Given the description of an element on the screen output the (x, y) to click on. 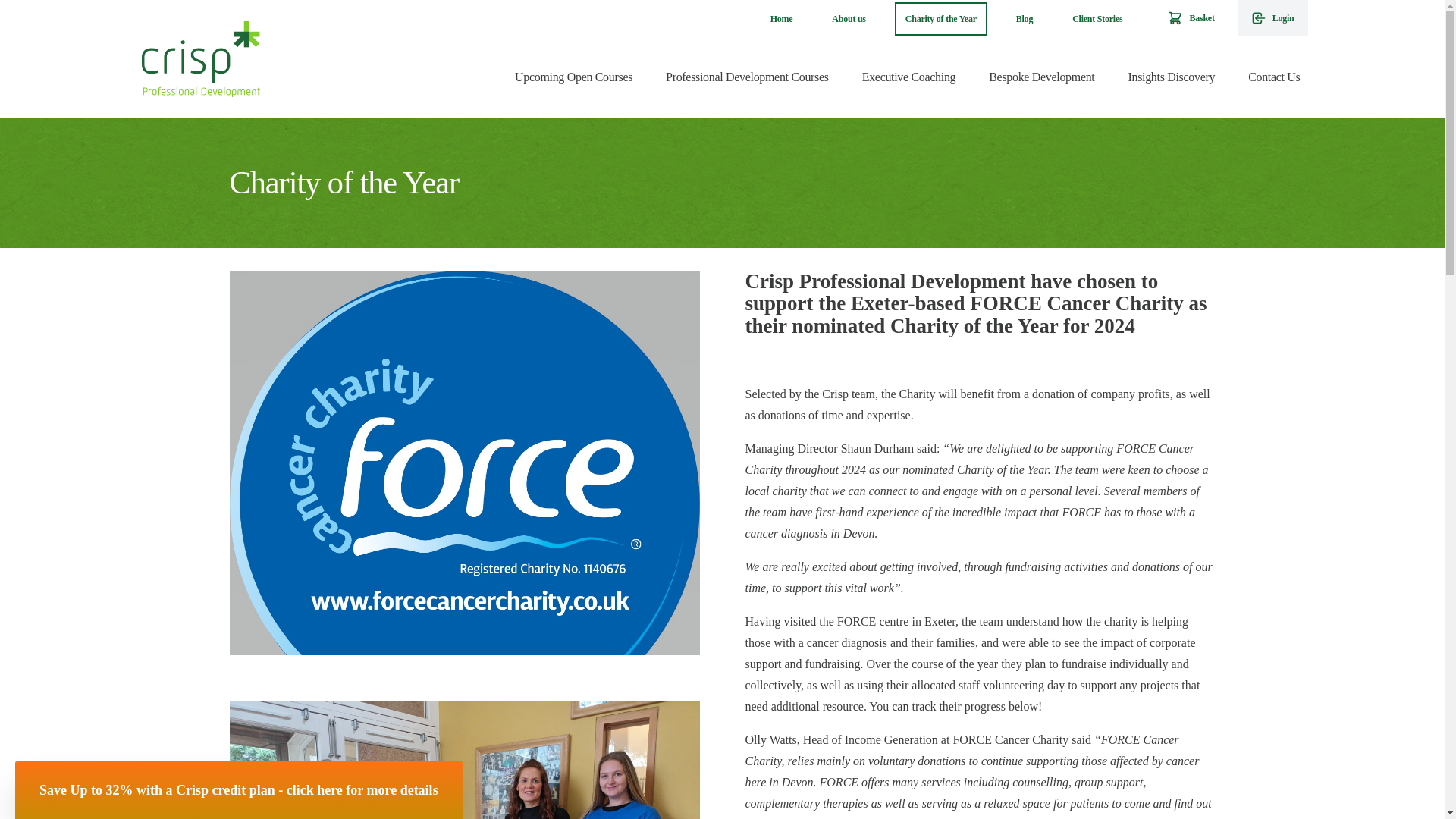
1000026235 (463, 760)
Home (781, 19)
Basket (1190, 18)
Contact Us (1273, 77)
Executive Coaching (908, 77)
Blog (1024, 19)
Professional Development Courses (747, 77)
Client Stories (1096, 19)
Bespoke Development (1041, 77)
Login (1272, 18)
Charity of the Year (941, 19)
Insights Discovery (1170, 77)
Upcoming Open Courses (573, 77)
About us (848, 19)
